Given the description of an element on the screen output the (x, y) to click on. 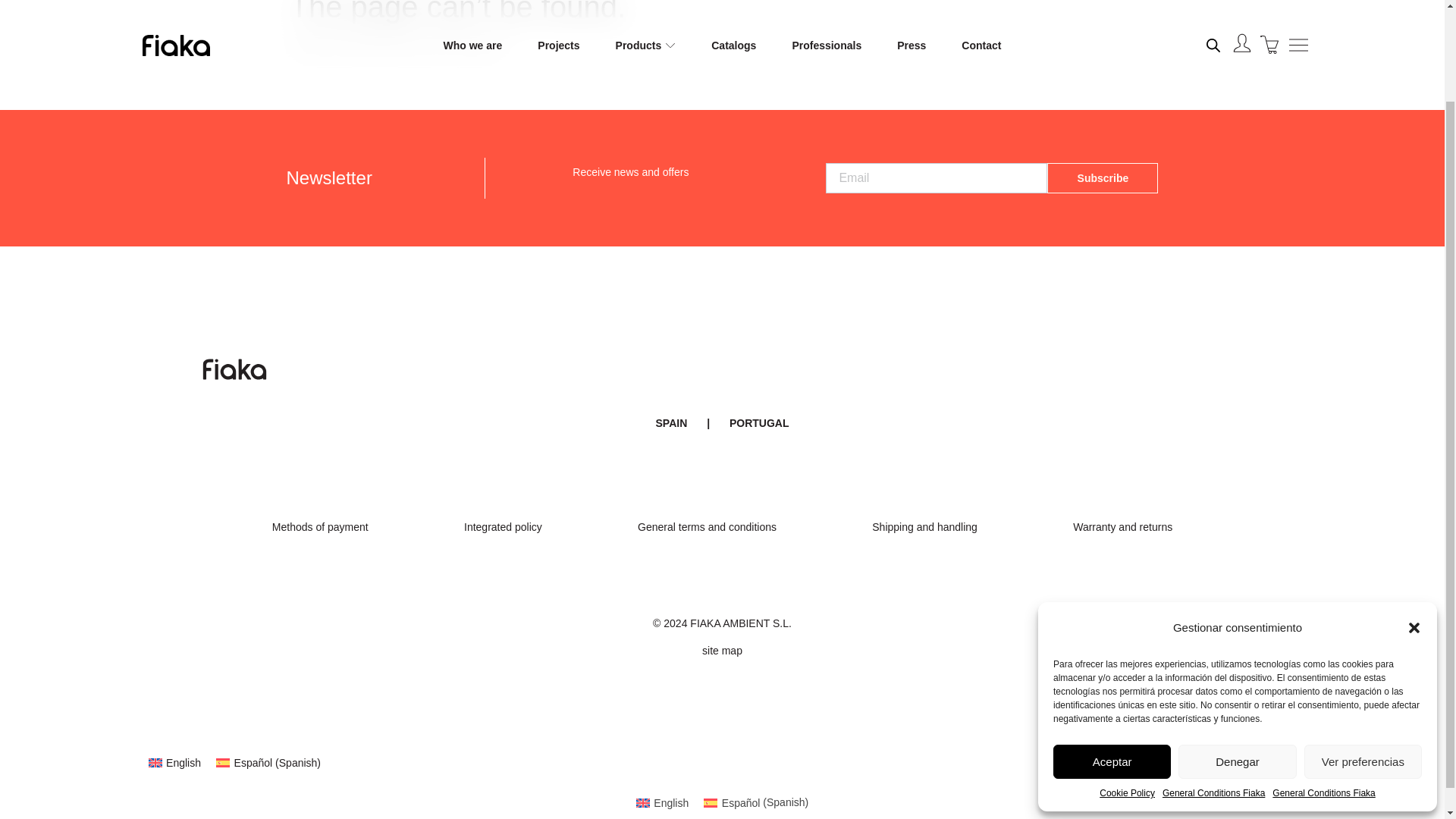
Cookie Policy (1126, 684)
General Conditions Fiaka (1323, 684)
Aceptar (1111, 653)
Ver preferencias (1363, 653)
Denegar (1236, 653)
General Conditions Fiaka (1213, 684)
